Given the description of an element on the screen output the (x, y) to click on. 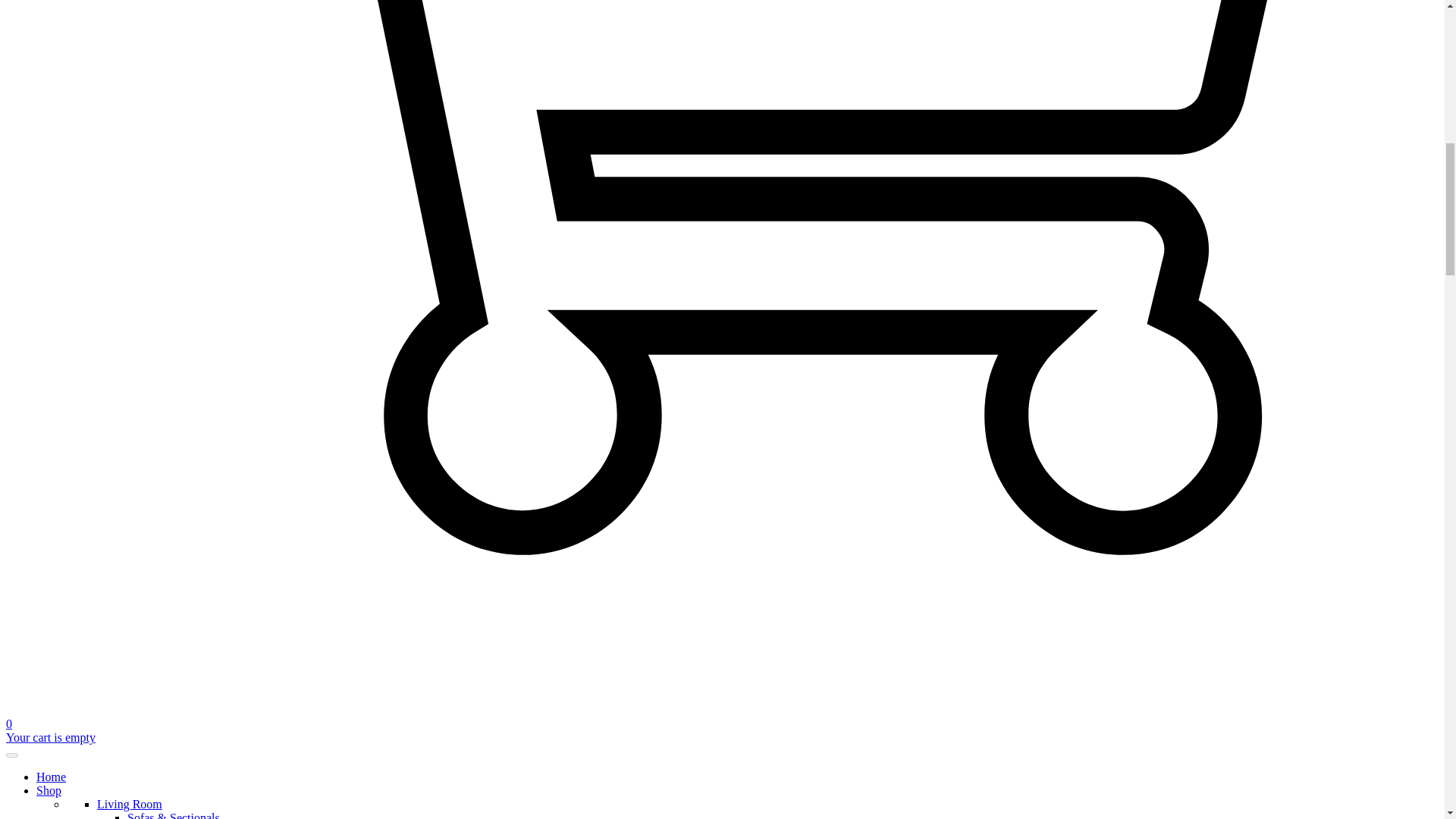
Your cart is empty (50, 737)
Shop (48, 789)
Living Room (129, 803)
Home (50, 776)
